Given the description of an element on the screen output the (x, y) to click on. 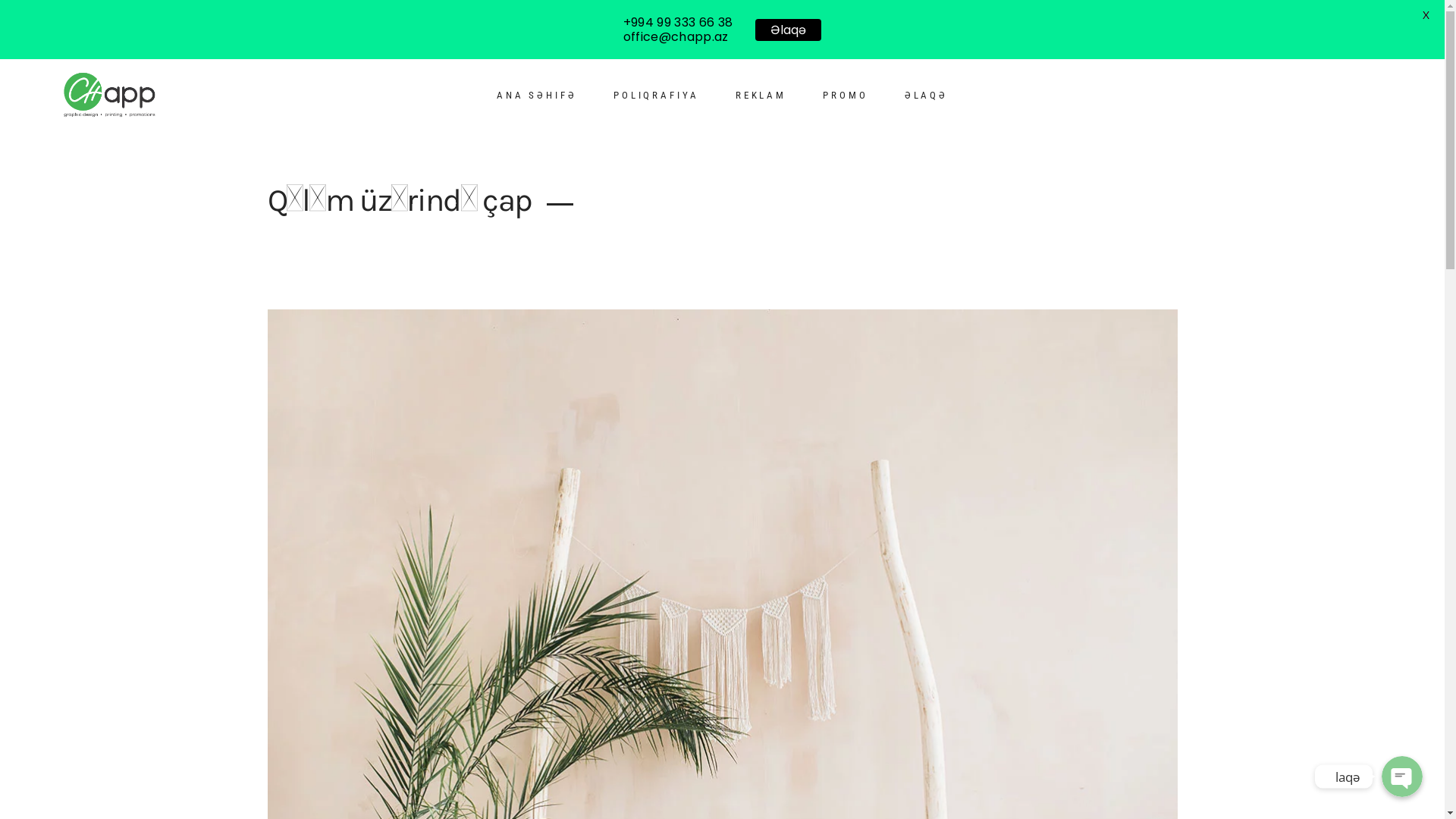
X Element type: text (1425, 14)
PROMO Element type: text (845, 94)
POLIQRAFIYA Element type: text (656, 94)
REKLAM Element type: text (760, 94)
